Given the description of an element on the screen output the (x, y) to click on. 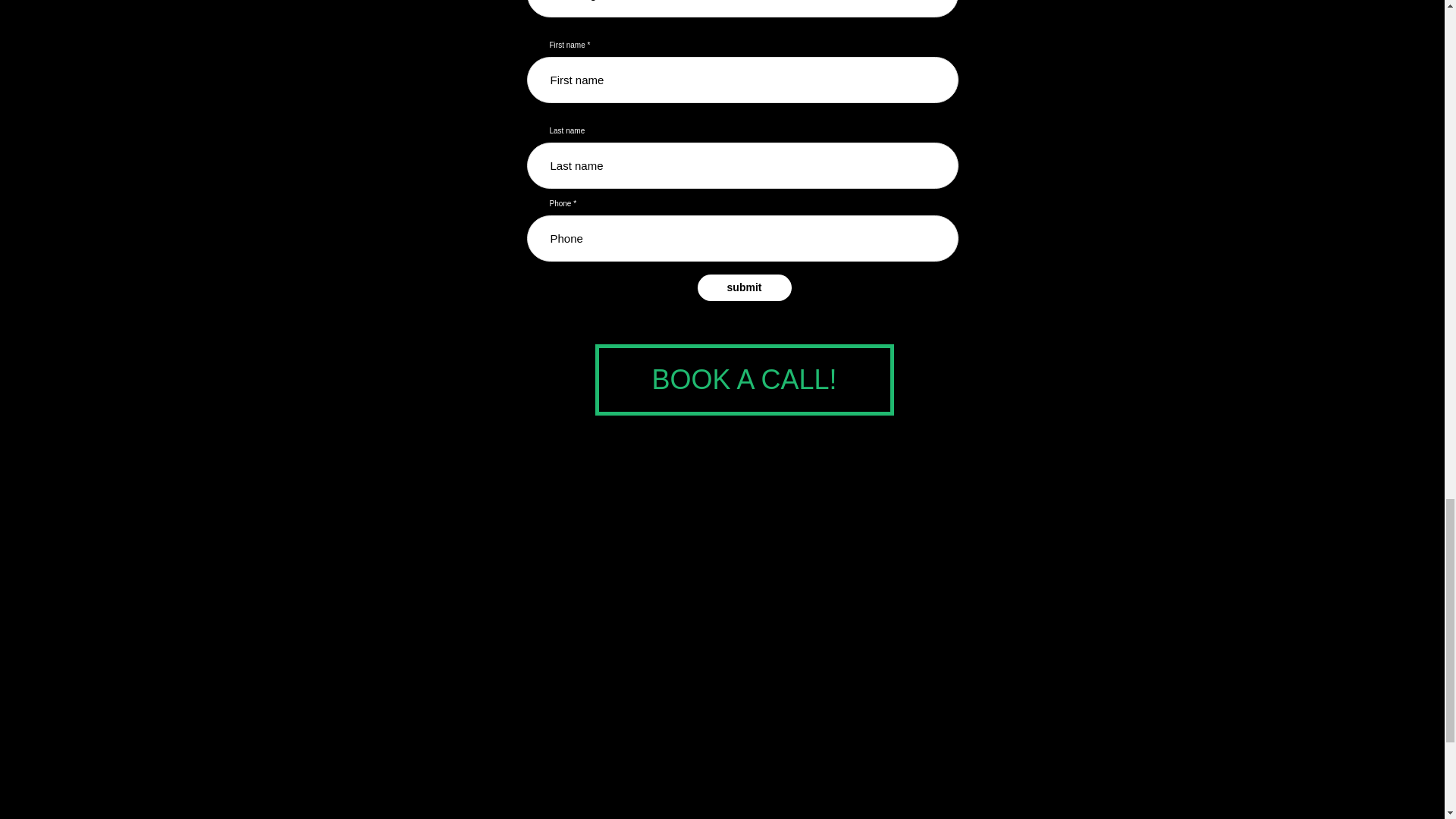
submit (744, 287)
BOOK A CALL! (743, 379)
